Given the description of an element on the screen output the (x, y) to click on. 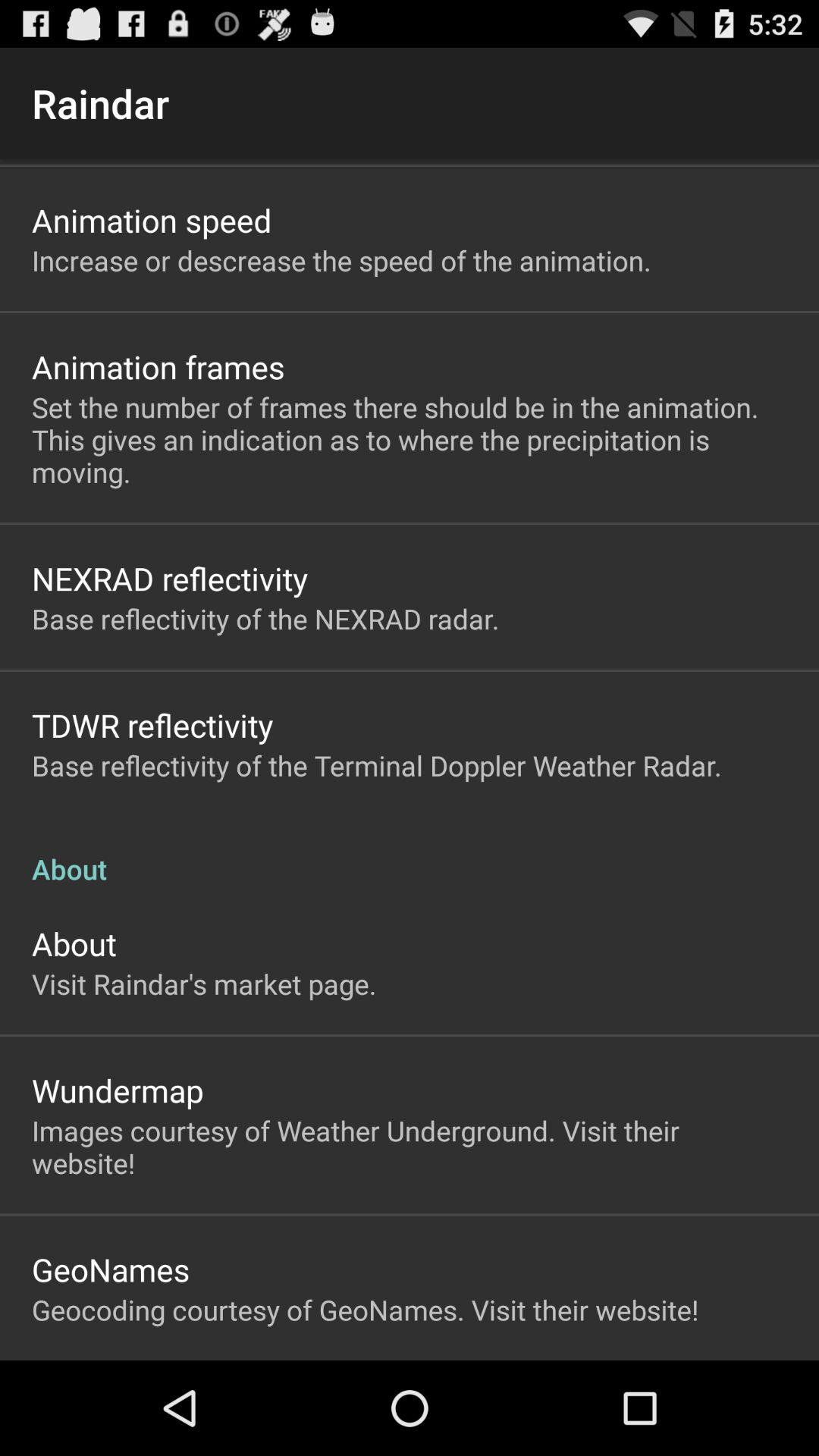
click item above the base reflectivity of item (152, 724)
